Given the description of an element on the screen output the (x, y) to click on. 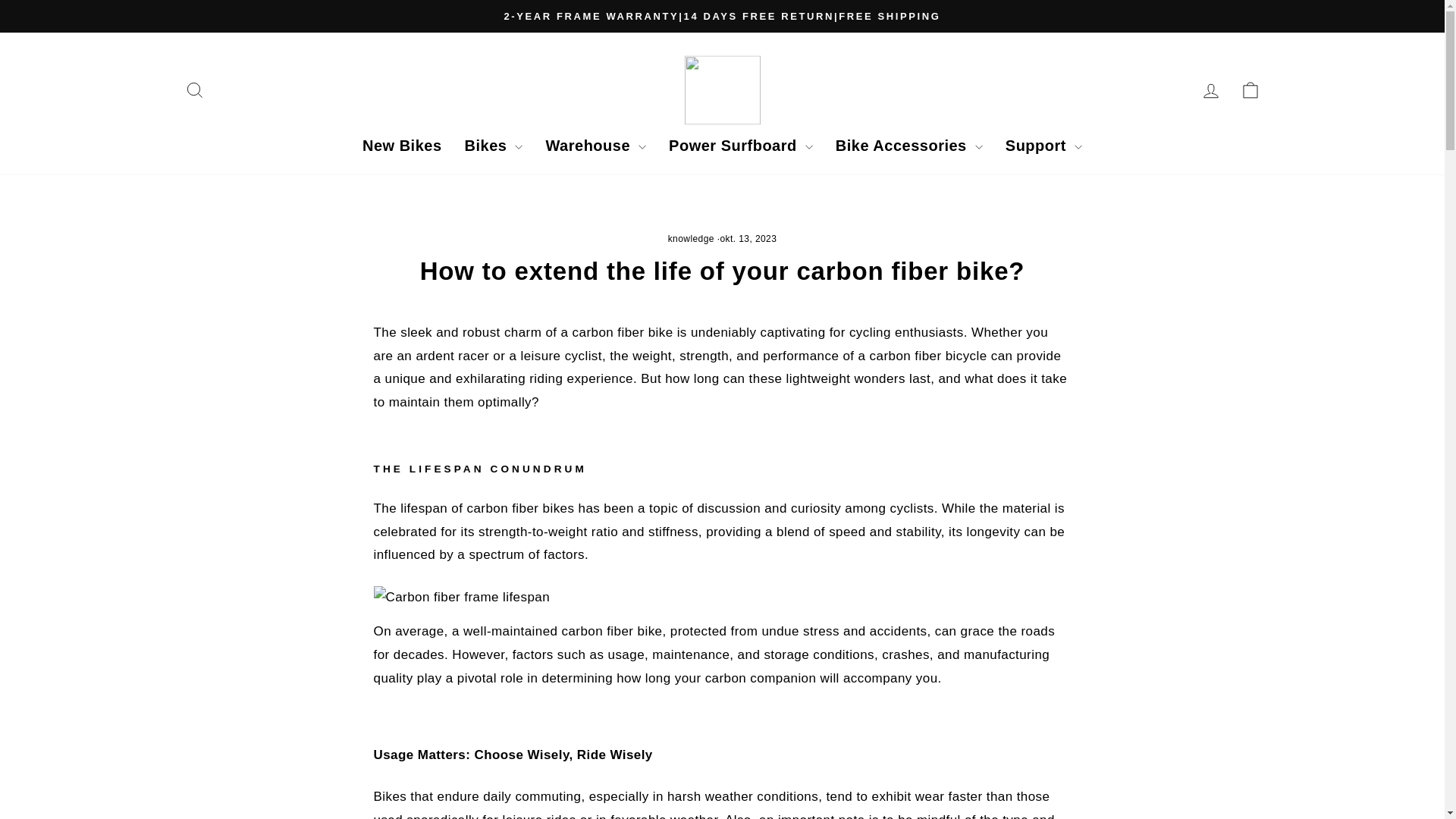
account (1210, 90)
icon-search (194, 89)
icon-bag-minimal (1249, 89)
